Given the description of an element on the screen output the (x, y) to click on. 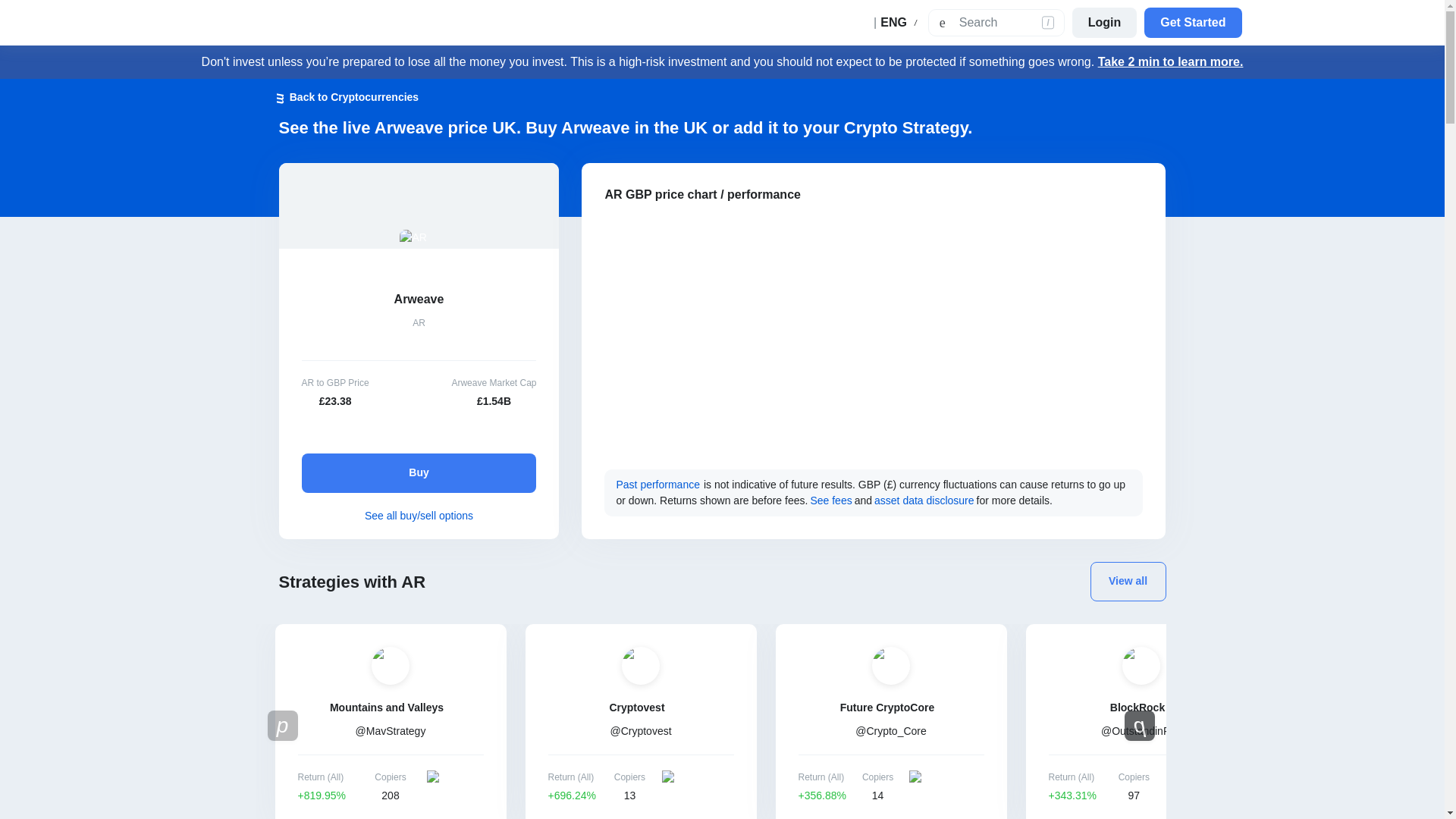
Visit Iconomi Home Page (242, 22)
